Given the description of an element on the screen output the (x, y) to click on. 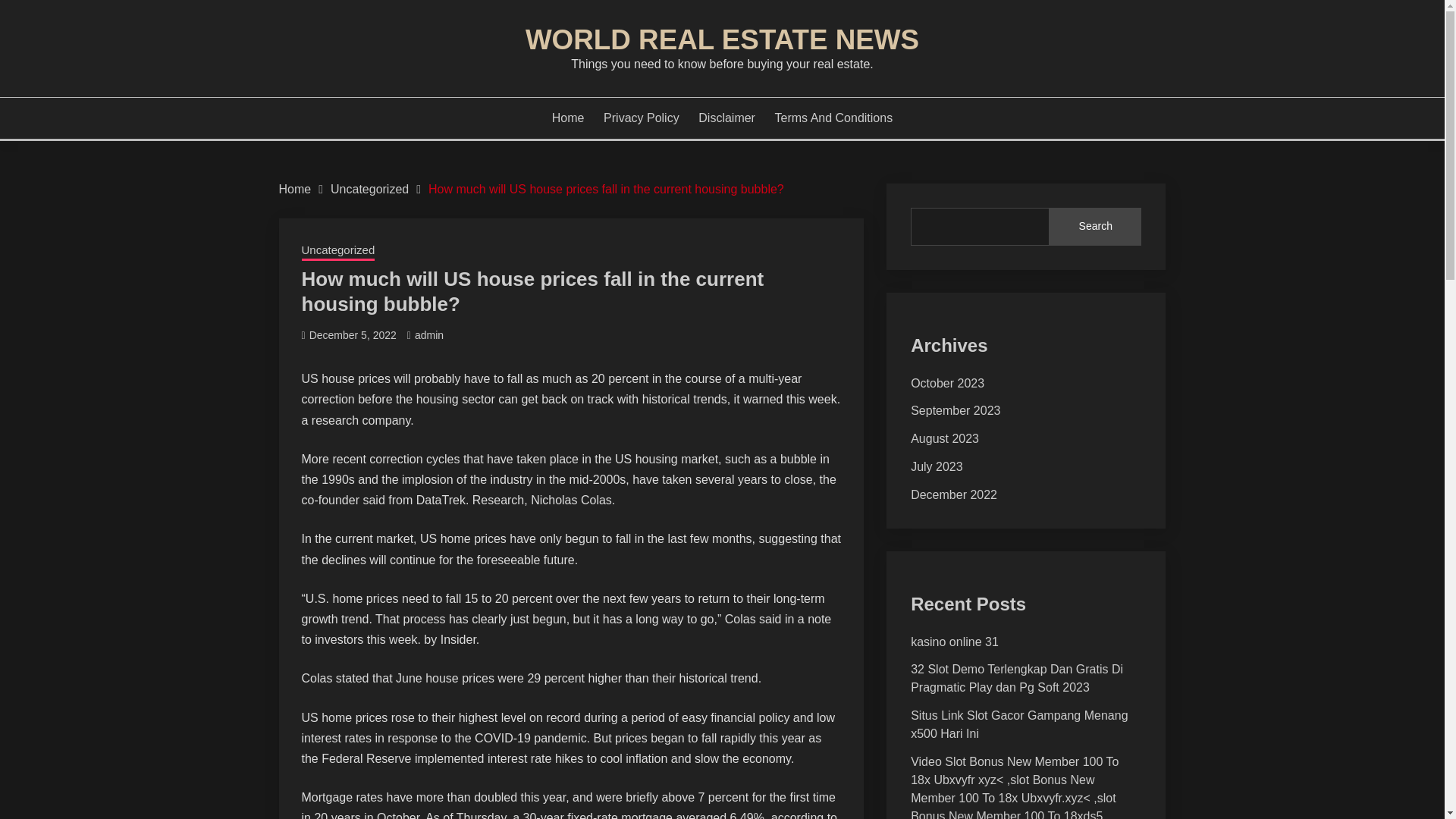
Situs Link Slot Gacor Gampang Menang x500 Hari Ini (1018, 724)
Disclaimer (726, 117)
WORLD REAL ESTATE NEWS (721, 39)
Uncategorized (369, 188)
Search (1095, 226)
Terms And Conditions (833, 117)
Home (568, 117)
October 2023 (947, 382)
December 2022 (954, 494)
July 2023 (936, 466)
Home (295, 188)
September 2023 (955, 410)
kasino online 31 (954, 641)
